Given the description of an element on the screen output the (x, y) to click on. 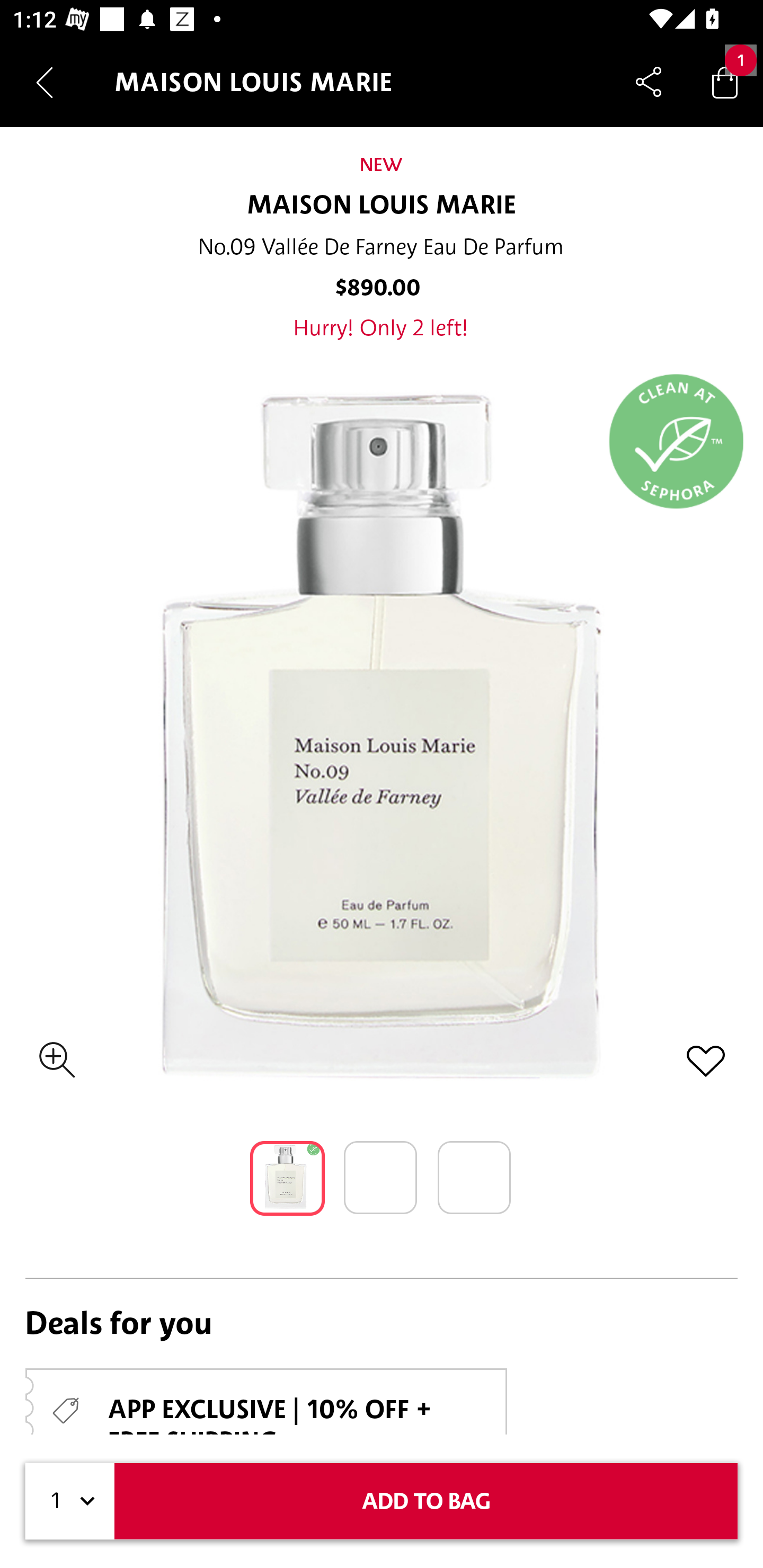
Navigate up (44, 82)
Share (648, 81)
Bag (724, 81)
MAISON LOUIS MARIE (381, 205)
1 (69, 1500)
ADD TO BAG (425, 1500)
